Given the description of an element on the screen output the (x, y) to click on. 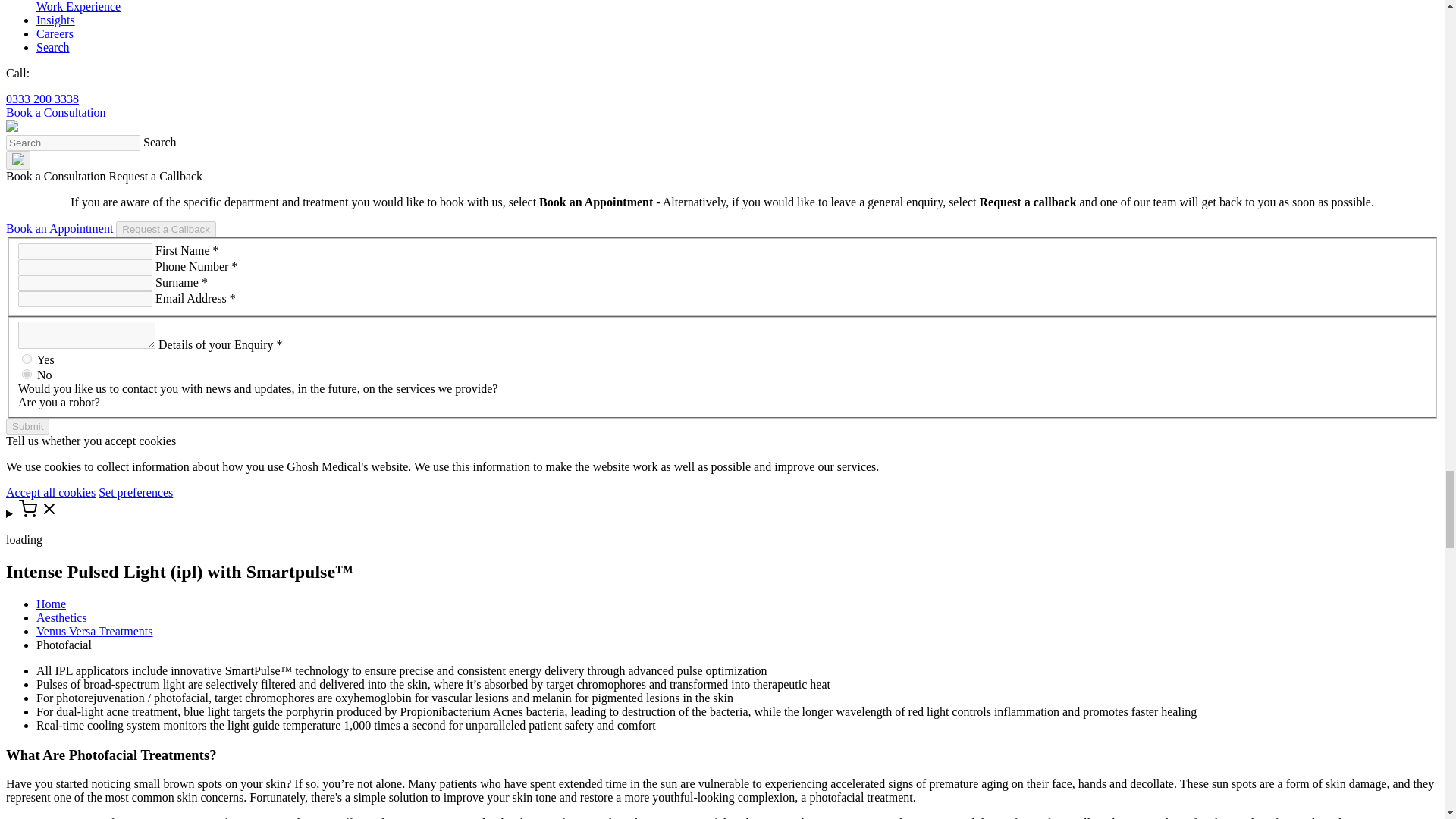
Yes (26, 358)
No (26, 374)
0333 200 3338 (41, 98)
